Given the description of an element on the screen output the (x, y) to click on. 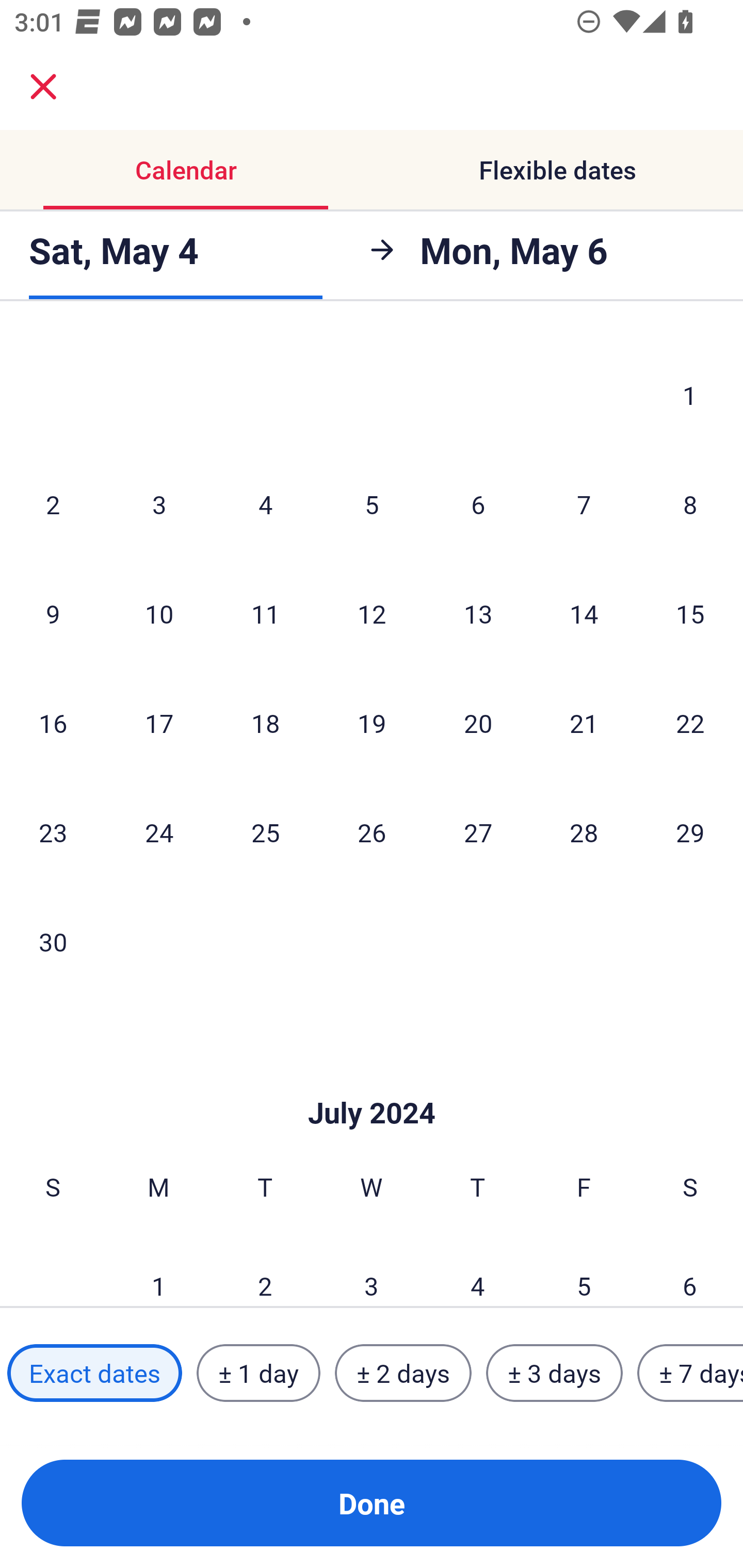
close. (43, 86)
Flexible dates (557, 170)
1 Saturday, June 1, 2024 (689, 394)
2 Sunday, June 2, 2024 (53, 503)
3 Monday, June 3, 2024 (159, 503)
4 Tuesday, June 4, 2024 (265, 503)
5 Wednesday, June 5, 2024 (371, 503)
6 Thursday, June 6, 2024 (477, 503)
7 Friday, June 7, 2024 (584, 503)
8 Saturday, June 8, 2024 (690, 503)
9 Sunday, June 9, 2024 (53, 613)
10 Monday, June 10, 2024 (159, 613)
11 Tuesday, June 11, 2024 (265, 613)
12 Wednesday, June 12, 2024 (371, 613)
13 Thursday, June 13, 2024 (477, 613)
14 Friday, June 14, 2024 (584, 613)
15 Saturday, June 15, 2024 (690, 613)
16 Sunday, June 16, 2024 (53, 722)
17 Monday, June 17, 2024 (159, 722)
18 Tuesday, June 18, 2024 (265, 722)
19 Wednesday, June 19, 2024 (371, 722)
20 Thursday, June 20, 2024 (477, 722)
21 Friday, June 21, 2024 (584, 722)
22 Saturday, June 22, 2024 (690, 722)
23 Sunday, June 23, 2024 (53, 831)
24 Monday, June 24, 2024 (159, 831)
25 Tuesday, June 25, 2024 (265, 831)
26 Wednesday, June 26, 2024 (371, 831)
27 Thursday, June 27, 2024 (477, 831)
28 Friday, June 28, 2024 (584, 831)
29 Saturday, June 29, 2024 (690, 831)
30 Sunday, June 30, 2024 (53, 941)
Skip to Done (371, 1081)
1 Monday, July 1, 2024 (158, 1269)
2 Tuesday, July 2, 2024 (264, 1269)
3 Wednesday, July 3, 2024 (371, 1269)
4 Thursday, July 4, 2024 (477, 1269)
5 Friday, July 5, 2024 (583, 1269)
6 Saturday, July 6, 2024 (689, 1269)
Exact dates (94, 1372)
± 1 day (258, 1372)
± 2 days (403, 1372)
± 3 days (553, 1372)
± 7 days (690, 1372)
Done (371, 1502)
